Given the description of an element on the screen output the (x, y) to click on. 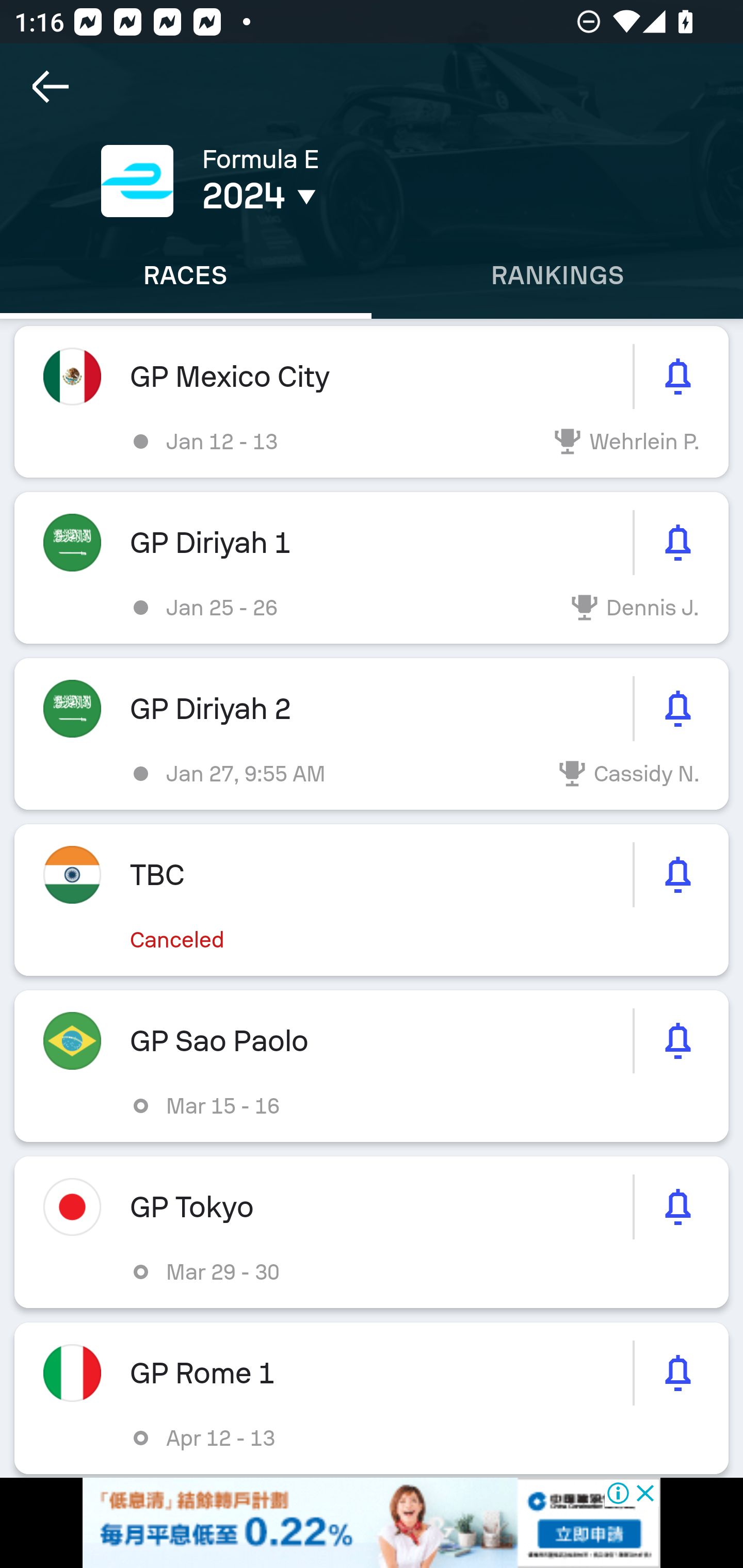
Navigate up (50, 86)
2024 (350, 195)
Rankings RANKINGS (557, 275)
GP Mexico City picture Jan 12 - 13 Wehrlein P. (371, 402)
GP Diriyah 1 picture Jan 25 - 26 Dennis J. (371, 568)
GP Diriyah 2 picture Jan 27, 9:55 AM Cassidy N. (371, 733)
TBC picture Canceled (371, 899)
GP Sao Paolo picture Mar 15 - 16 (371, 1065)
GP Tokyo picture Mar 29 - 30 (371, 1232)
GP Rome 1 picture Apr 12 - 13 (371, 1397)
Advertisement (371, 1522)
